Given the description of an element on the screen output the (x, y) to click on. 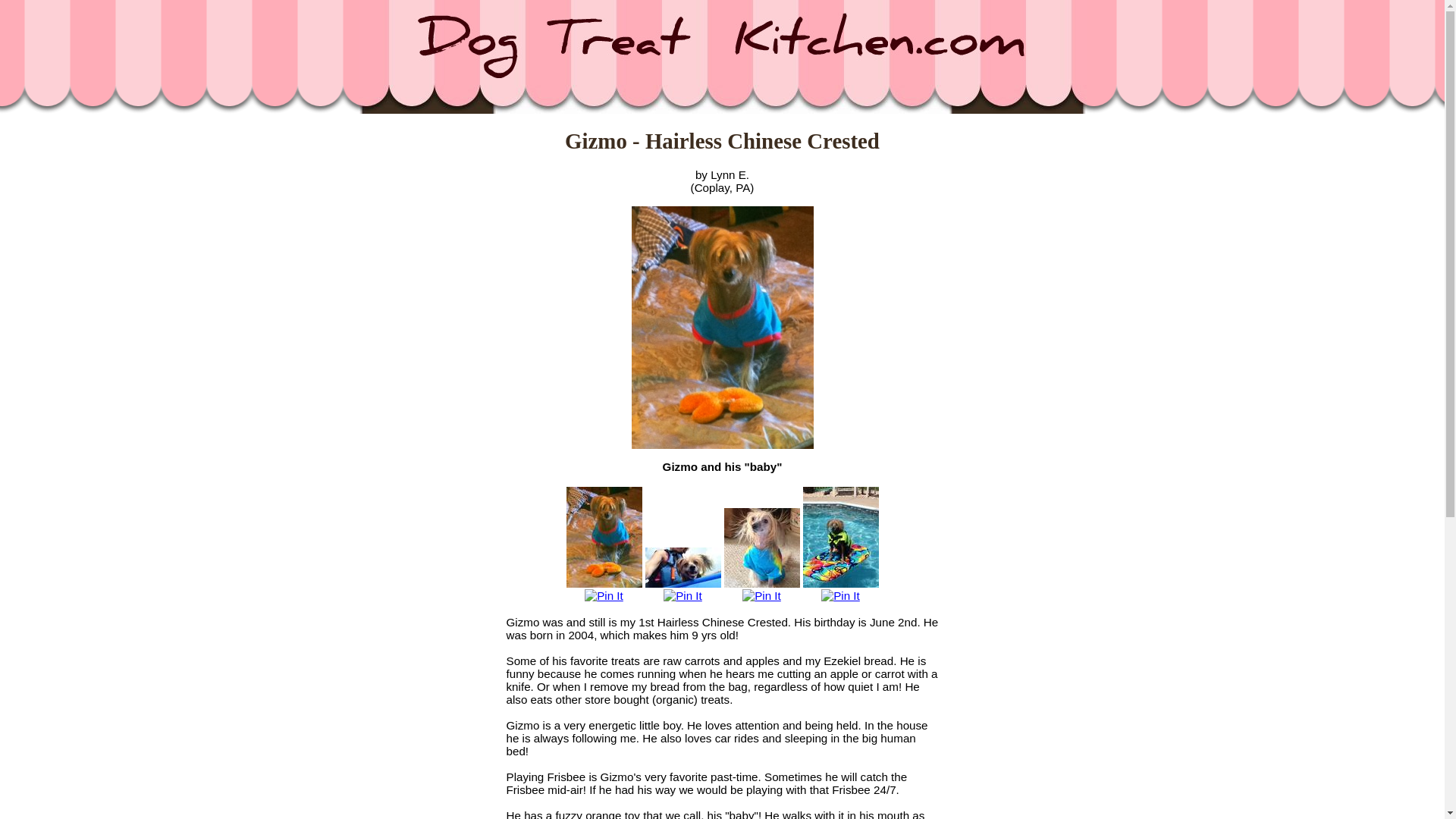
Pin It (604, 594)
Pin It (761, 594)
Kayaking (682, 567)
Pin It (682, 594)
Bad hair day! (761, 547)
Pin It (840, 594)
